Given the description of an element on the screen output the (x, y) to click on. 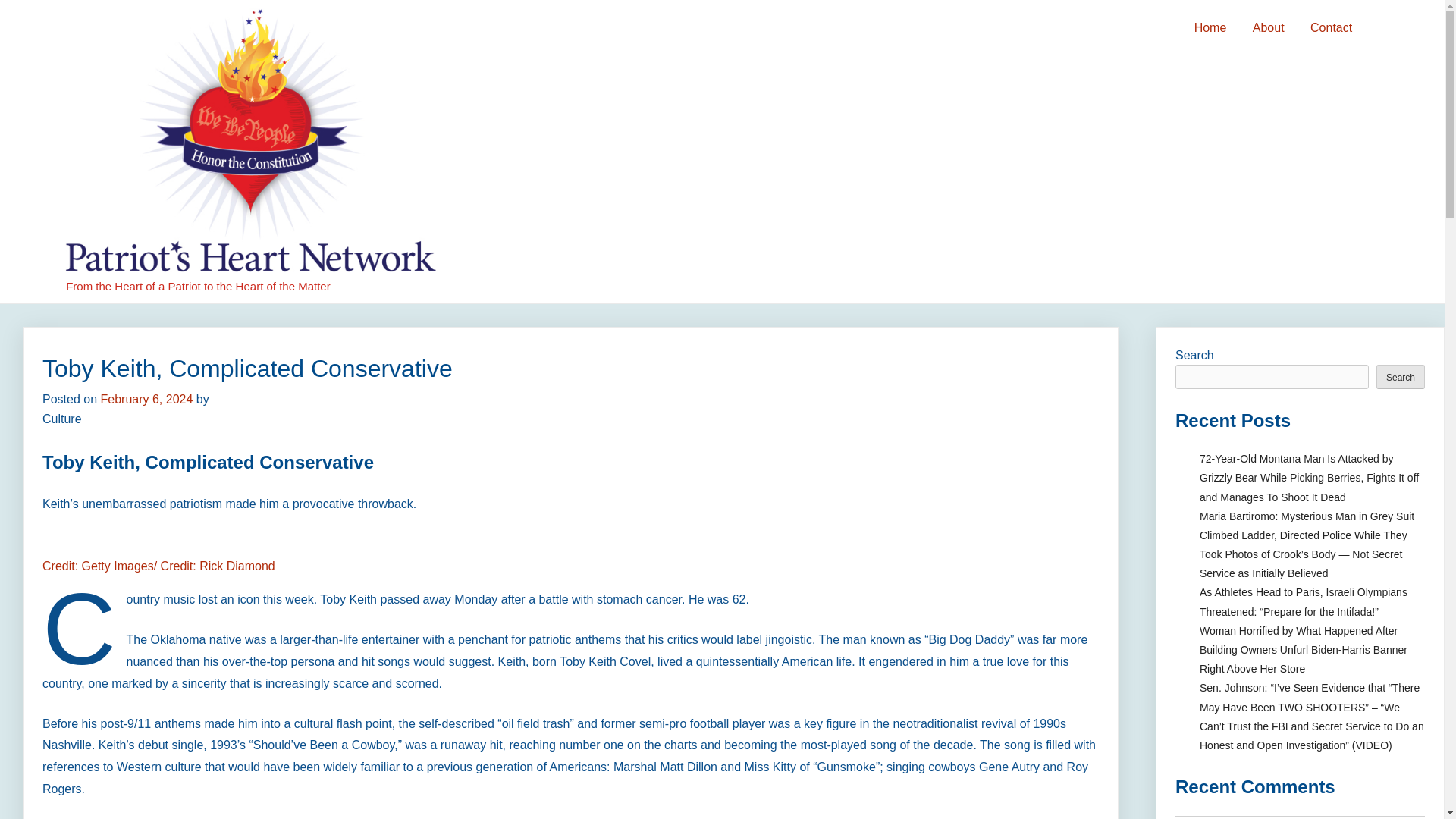
February 6, 2024 (146, 399)
Search (1400, 376)
Contact (1330, 28)
About (1268, 28)
Home (1210, 28)
